Given the description of an element on the screen output the (x, y) to click on. 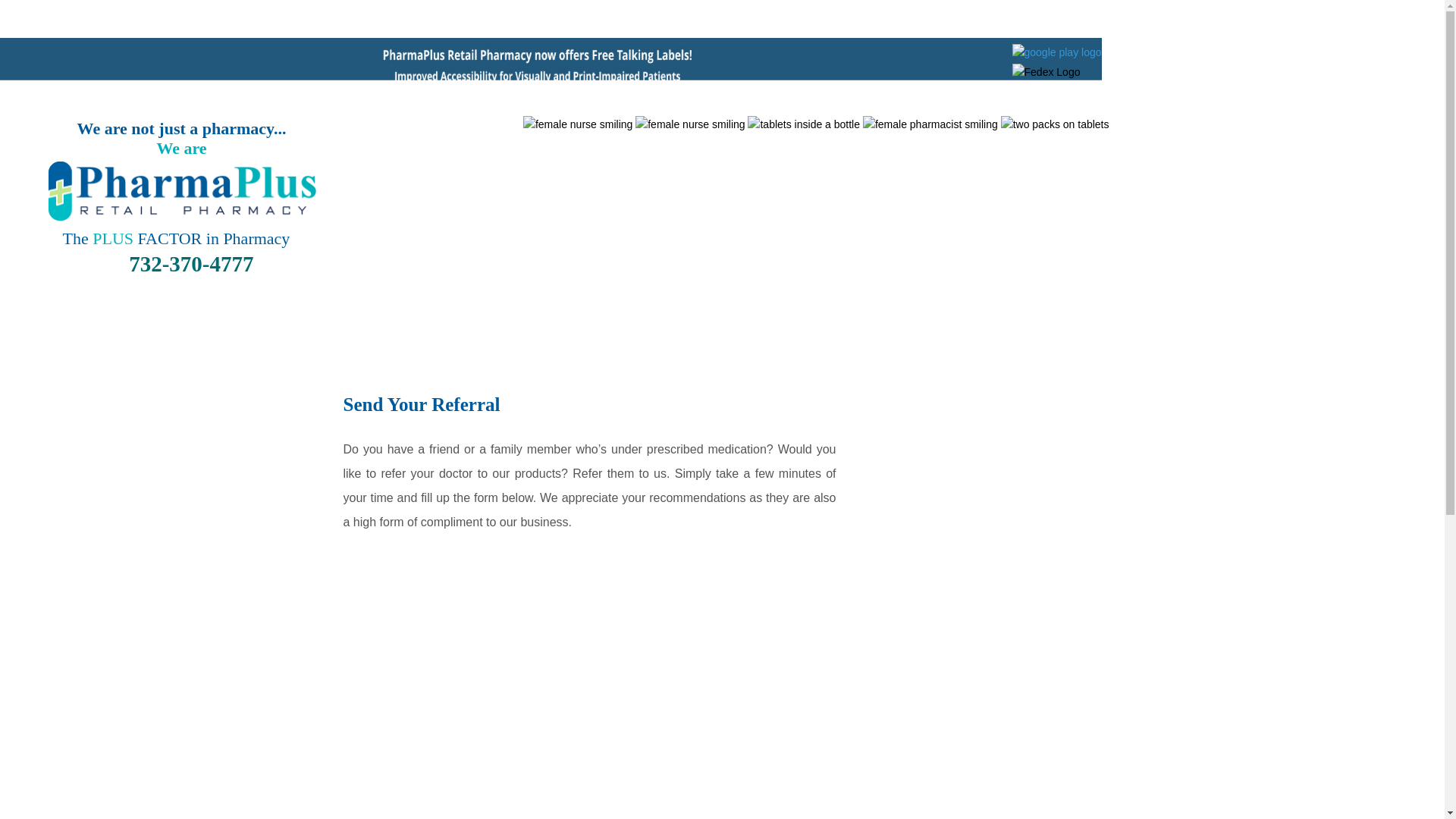
Services (352, 18)
Diabetic Shoes (826, 18)
Diabetic Supplies (717, 18)
Send Your Referral (979, 589)
New Patient Form (979, 646)
Medication (979, 533)
Special Packaging (1051, 18)
Asthma (903, 18)
Vitamins (960, 18)
Diseases and Conditions (979, 421)
